Given the description of an element on the screen output the (x, y) to click on. 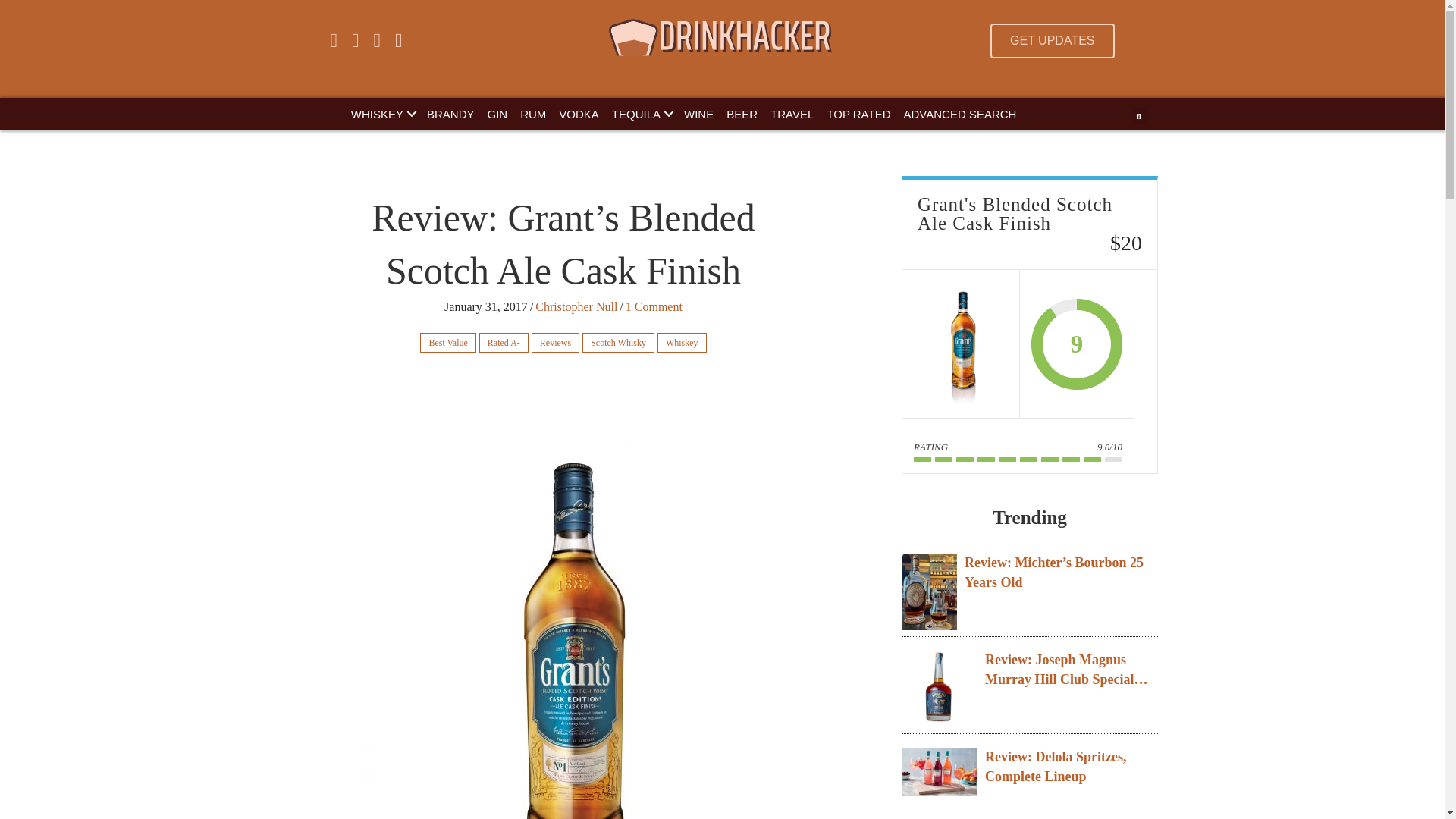
Submit (739, 313)
TOP RATED (858, 113)
GIN (496, 113)
GET UPDATES (1051, 40)
WINE (698, 113)
TRAVEL (791, 113)
TEQUILA (641, 113)
ADVANCED SEARCH (960, 113)
VODKA (579, 113)
WHISKEY (382, 113)
